Given the description of an element on the screen output the (x, y) to click on. 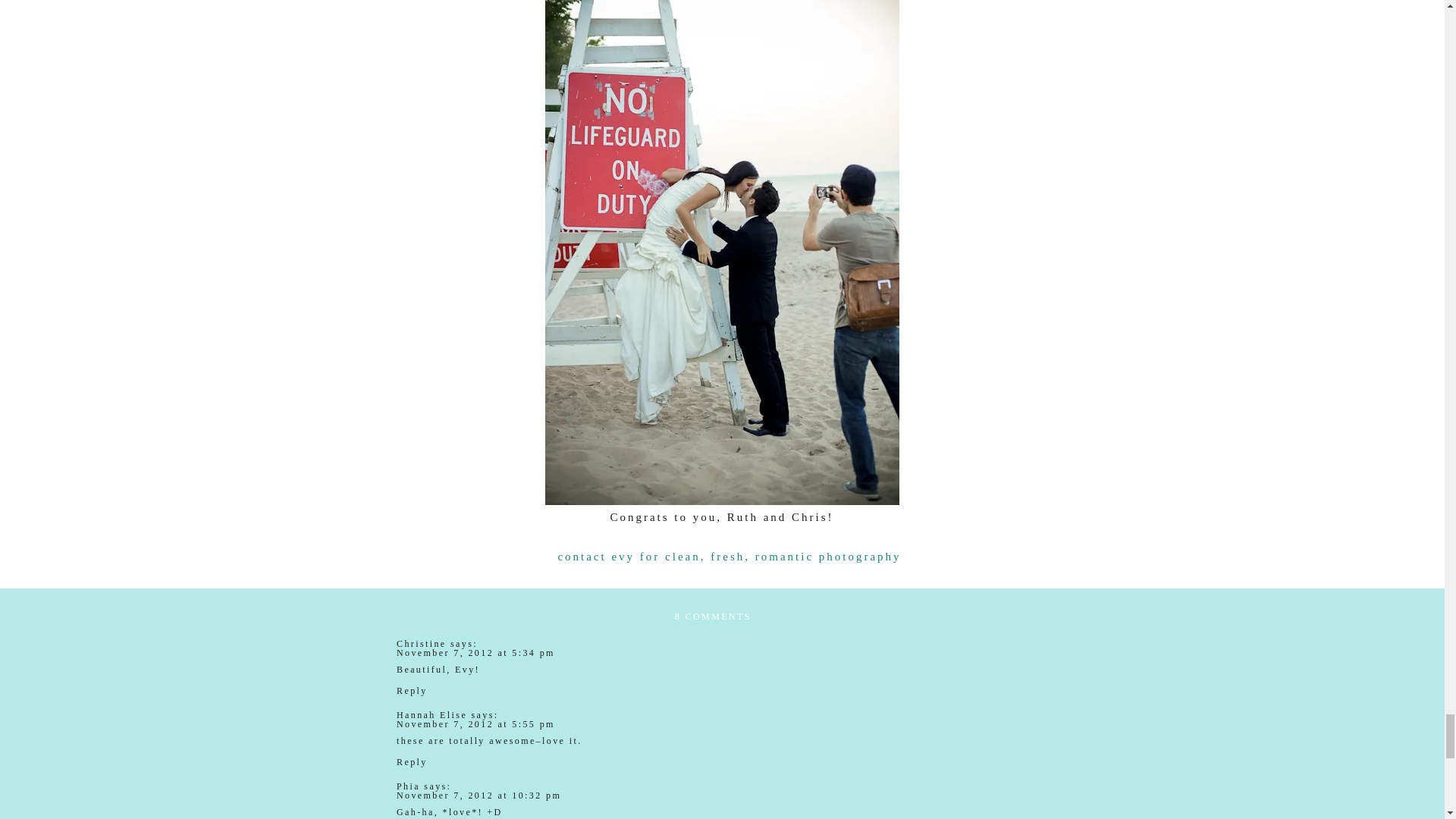
Phia (408, 786)
November 7, 2012 at 5:55 pm (475, 724)
Reply (412, 761)
November 7, 2012 at 10:32 pm (478, 795)
contact evy for clean, fresh, romantic photography (729, 557)
Hannah Elise (431, 715)
November 7, 2012 at 5:34 pm (475, 652)
Reply (412, 690)
Christine (421, 643)
